Given the description of an element on the screen output the (x, y) to click on. 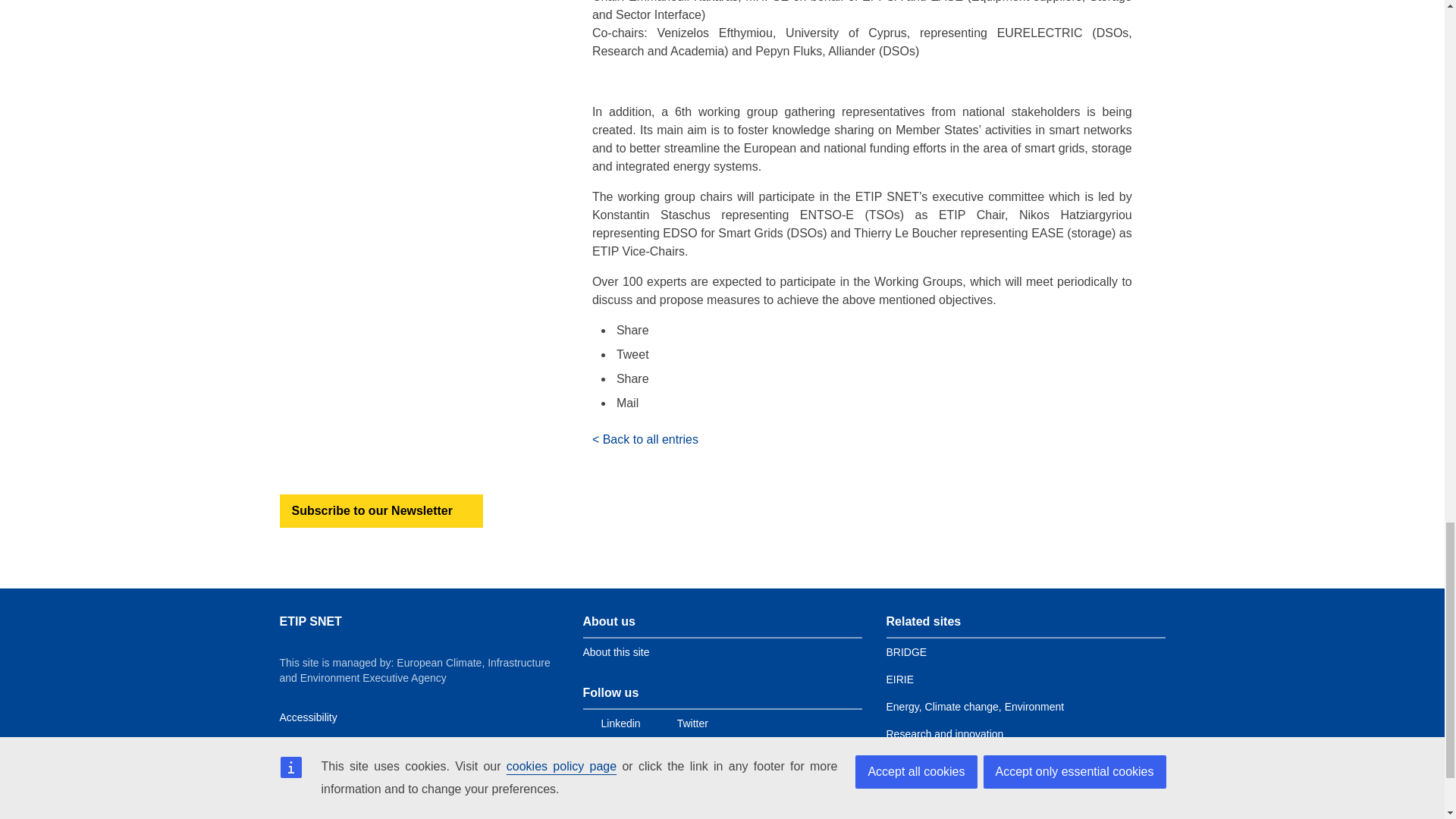
Email This (867, 402)
Twitter (867, 354)
LinkedIn (867, 379)
Facebook (867, 330)
European Commission (389, 815)
